Given the description of an element on the screen output the (x, y) to click on. 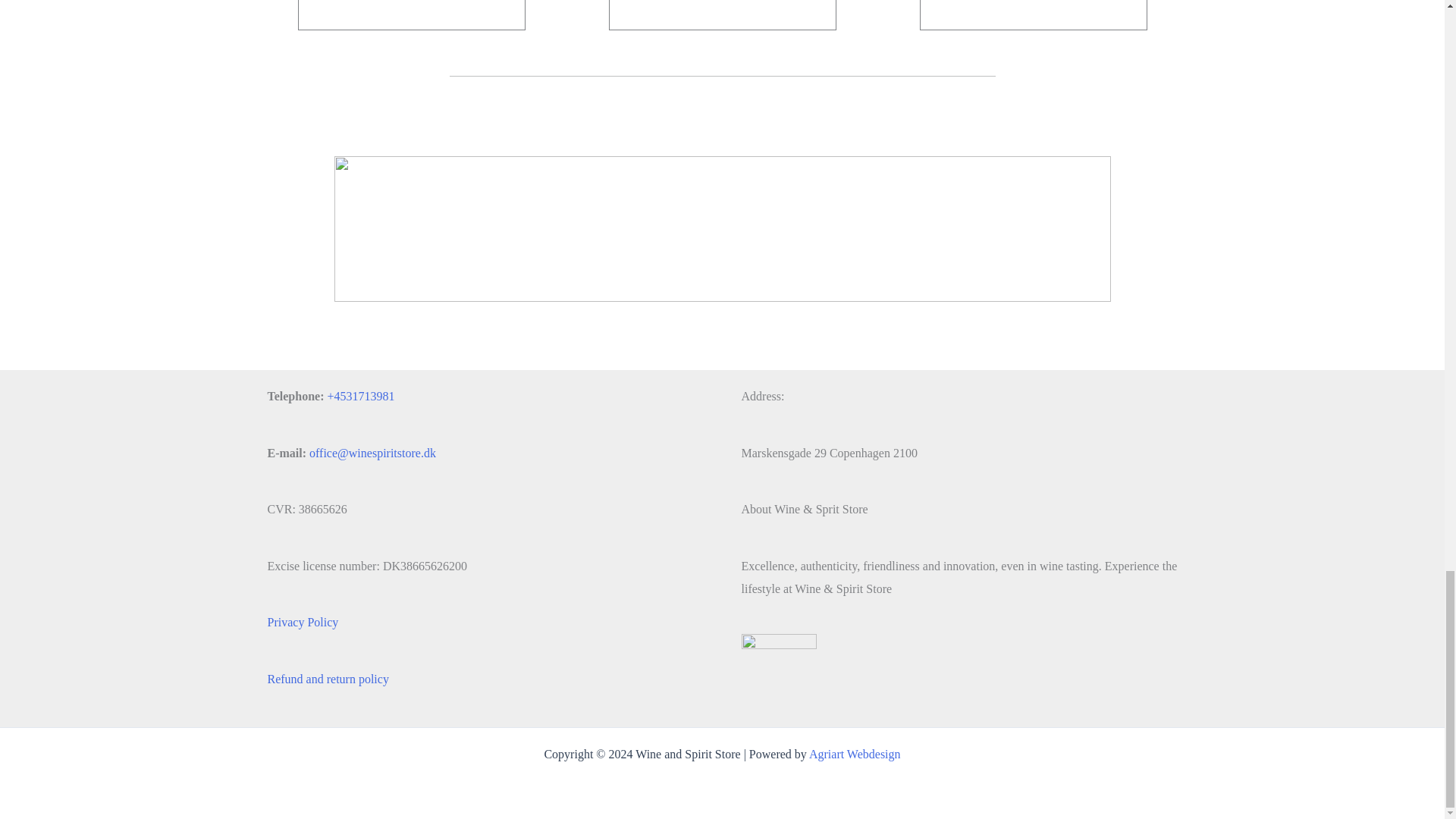
banner-fleksibel-levering-1-300x1600 (721, 229)
